Given the description of an element on the screen output the (x, y) to click on. 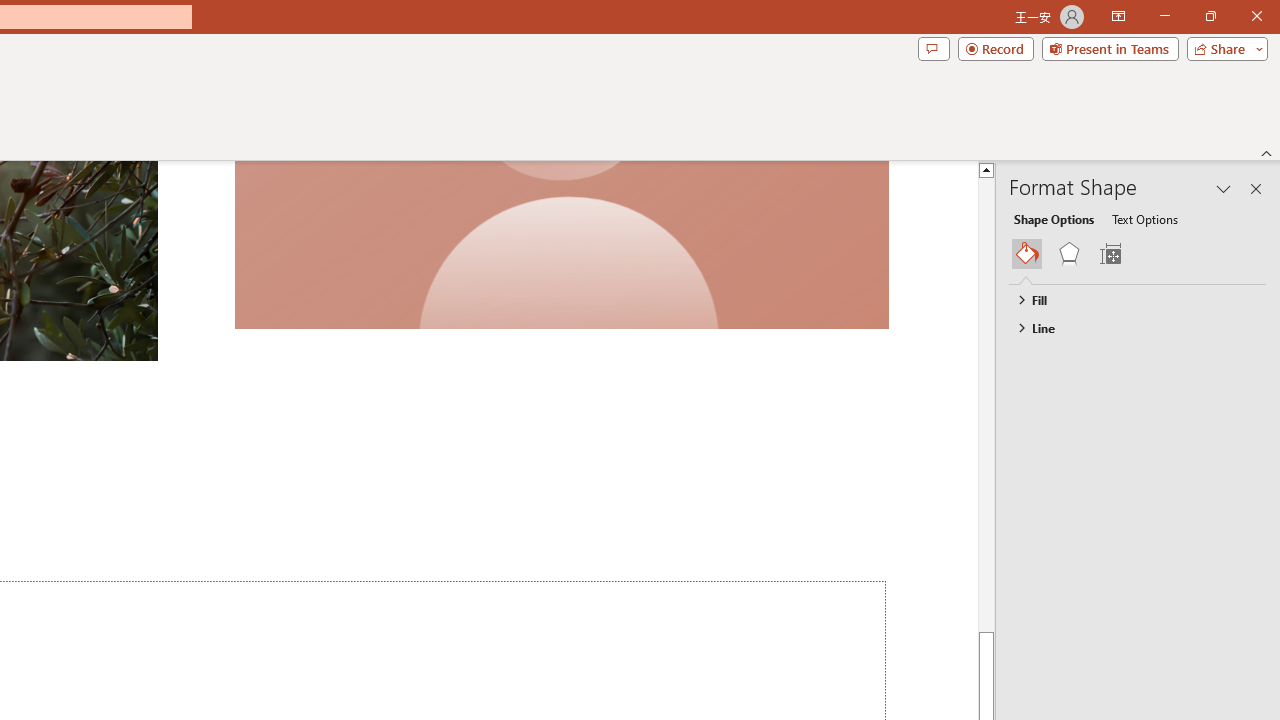
Fill (1128, 299)
Effects (1069, 254)
Fill & Line (1027, 254)
